Given the description of an element on the screen output the (x, y) to click on. 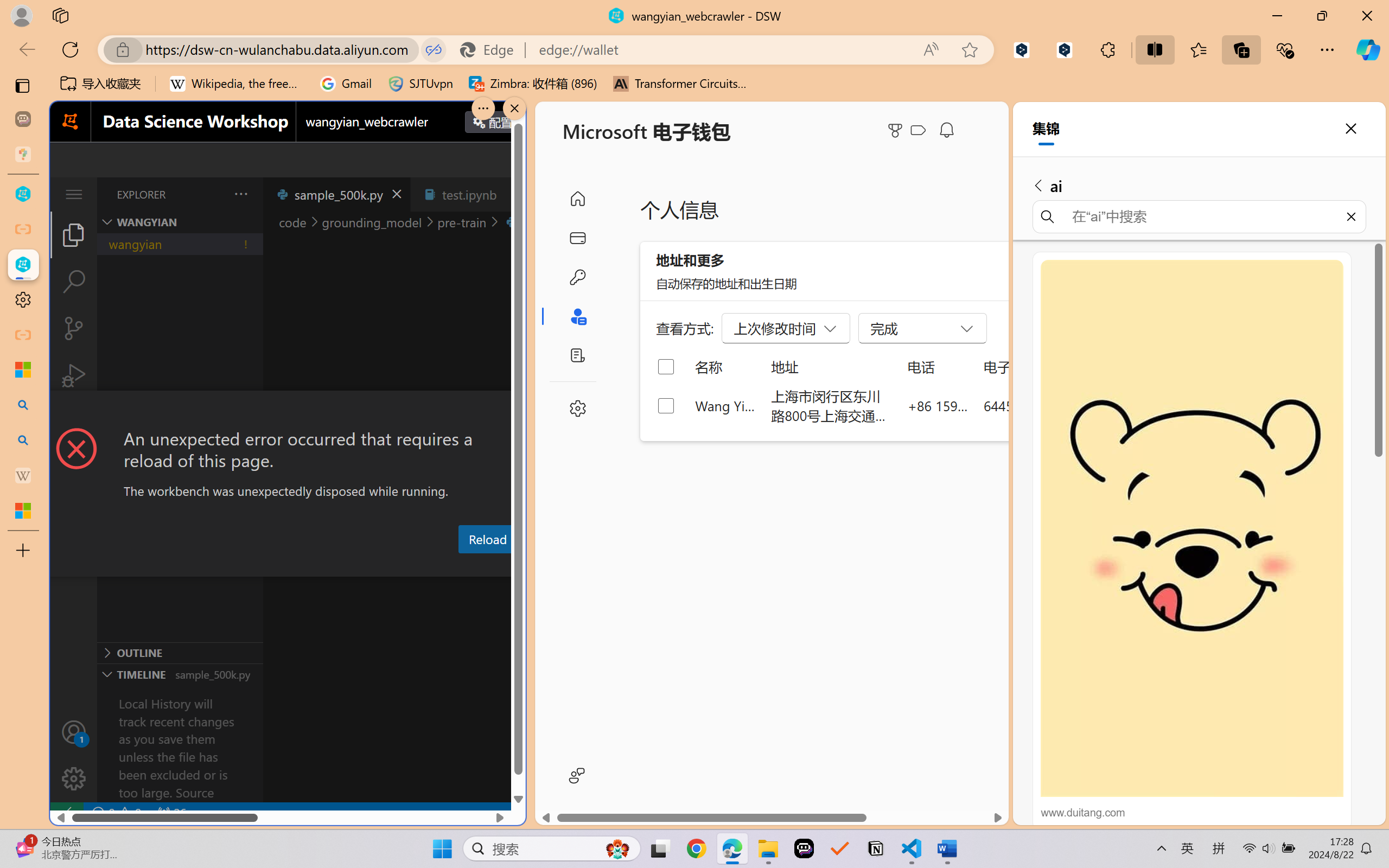
Microsoft Cashback (920, 130)
Views and More Actions... (240, 193)
Microsoft Rewards (896, 129)
+86 159 0032 4640 (938, 405)
Class: ___1lmltc5 f1agt3bx f12qytpq (917, 130)
Gmail (345, 83)
Application Menu (73, 194)
